Given the description of an element on the screen output the (x, y) to click on. 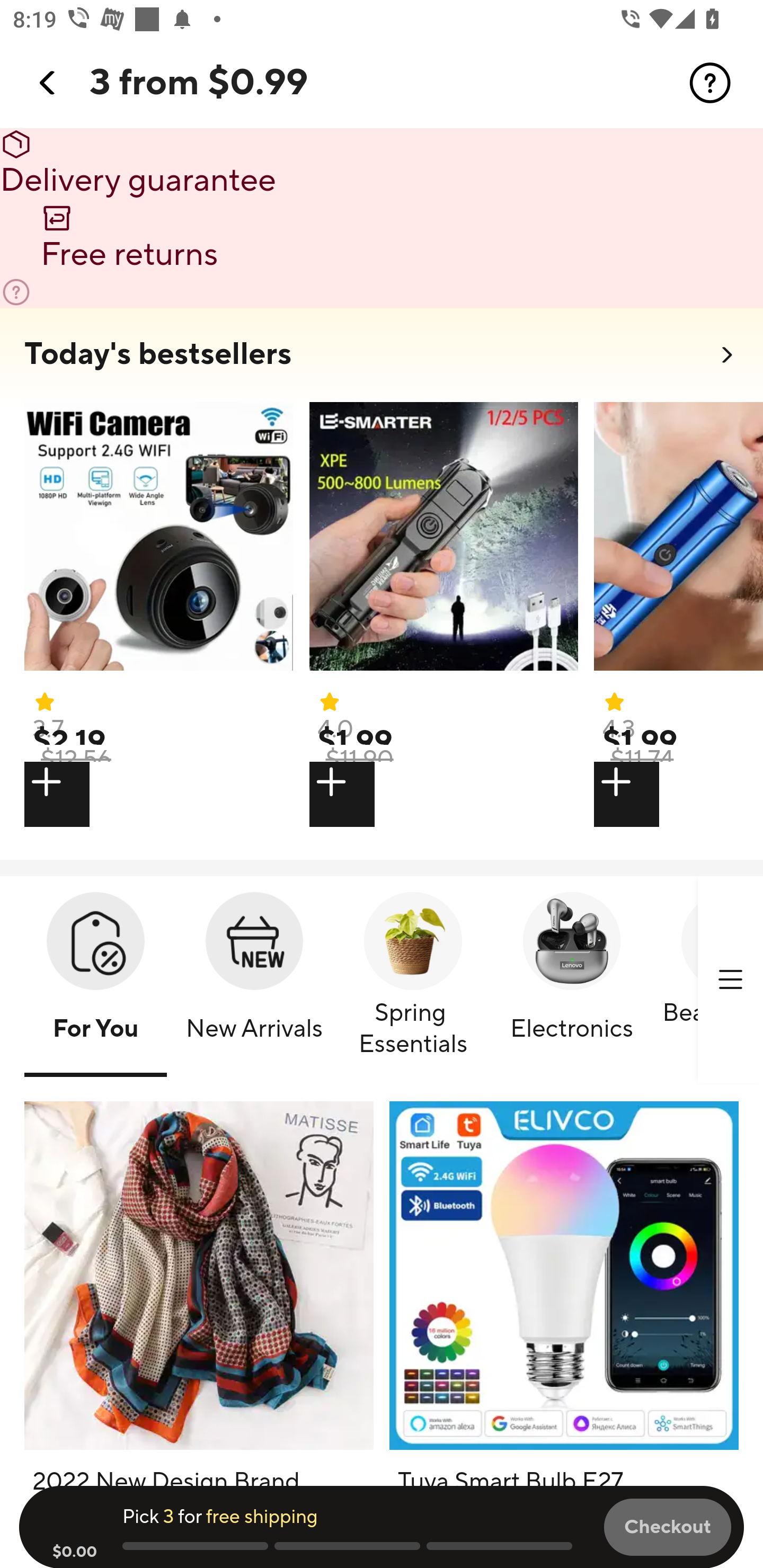
 (710, 82)
 (48, 82)
Today's bestsellers  Today's bestsellers  (381, 359)
 (158, 793)
 (443, 793)
 (677, 793)
 (730, 978)
144x144.png_ For You (95, 980)
144x144.png_ New Arrivals (254, 980)
200x200.png_ Spring Essentials (412, 980)
300x300.png_ Electronics (571, 980)
